Given the description of an element on the screen output the (x, y) to click on. 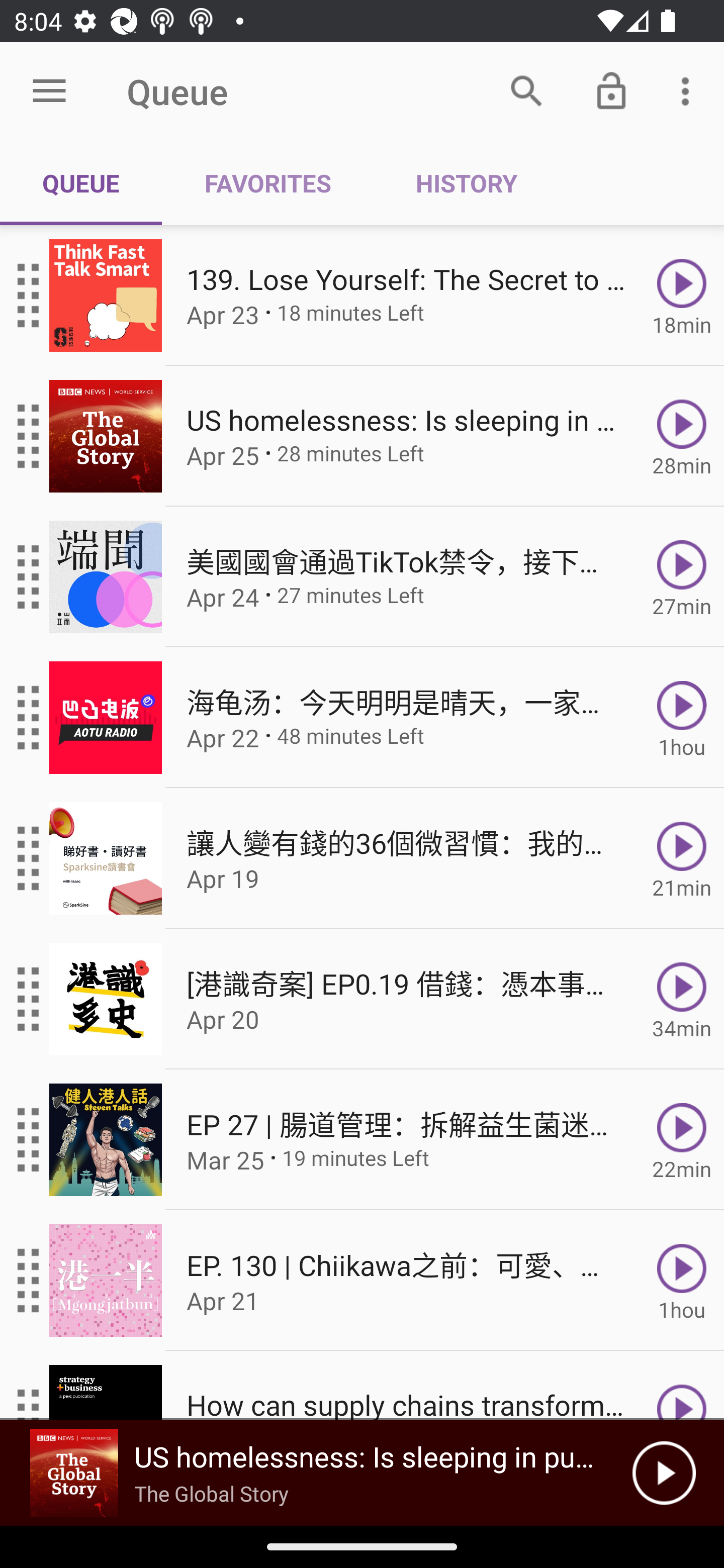
Open menu (49, 91)
Search (526, 90)
Lock Queue (611, 90)
More options (688, 90)
QUEUE (81, 183)
FAVORITES (267, 183)
HISTORY (465, 183)
Play 18min (681, 295)
Play 28min (681, 435)
Play 27min (681, 576)
Play 1hou (681, 717)
Play 21min (681, 858)
Play 34min (681, 998)
Play 22min (681, 1139)
Play 1hou (681, 1280)
Play (681, 1385)
Play (663, 1472)
